Given the description of an element on the screen output the (x, y) to click on. 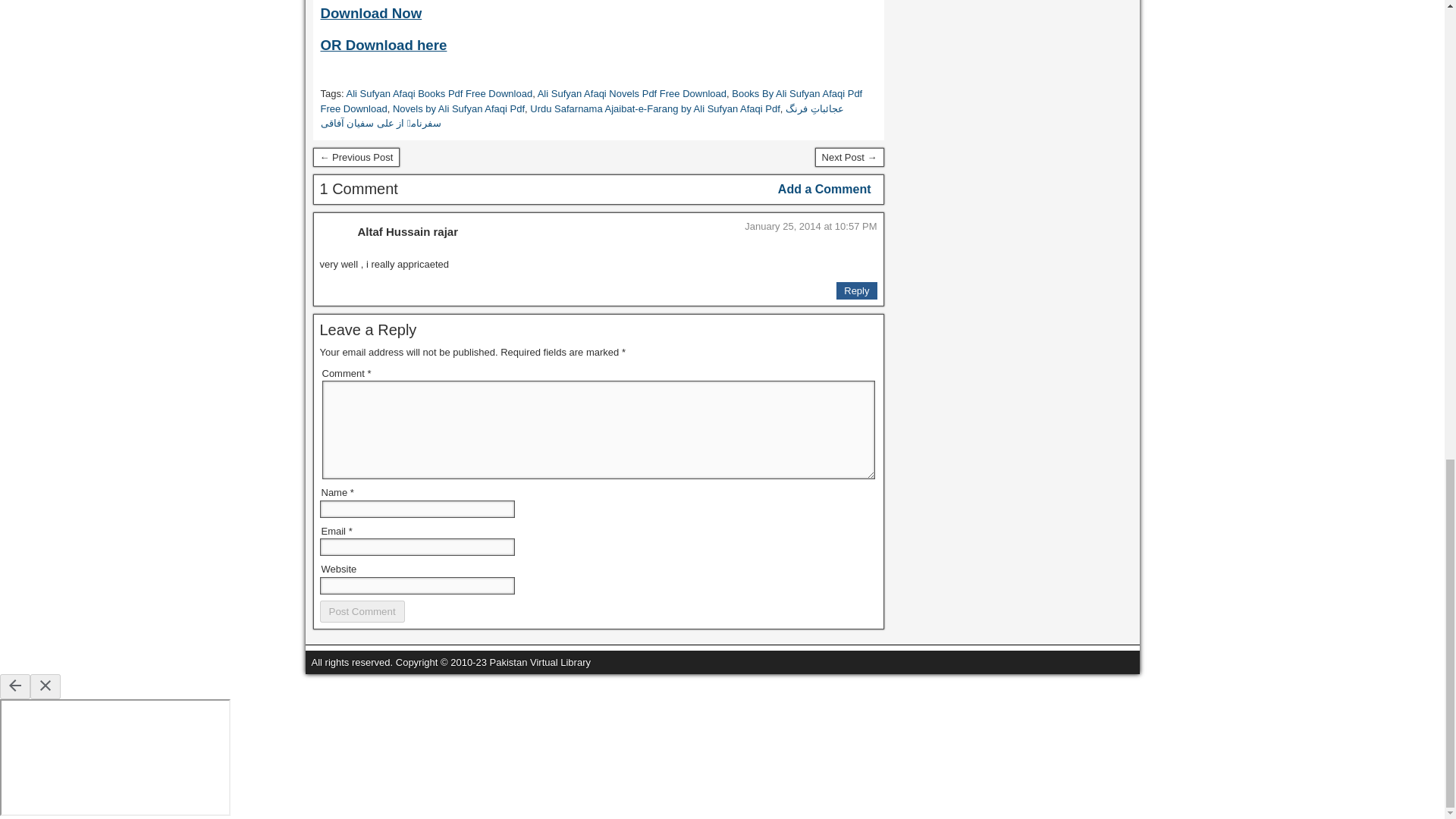
Post Comment (362, 611)
Tumhen To Mera Hona Tha by Lubna Safdar (849, 157)
Shuaa Novel by Nadra Khatoon (355, 157)
